Given the description of an element on the screen output the (x, y) to click on. 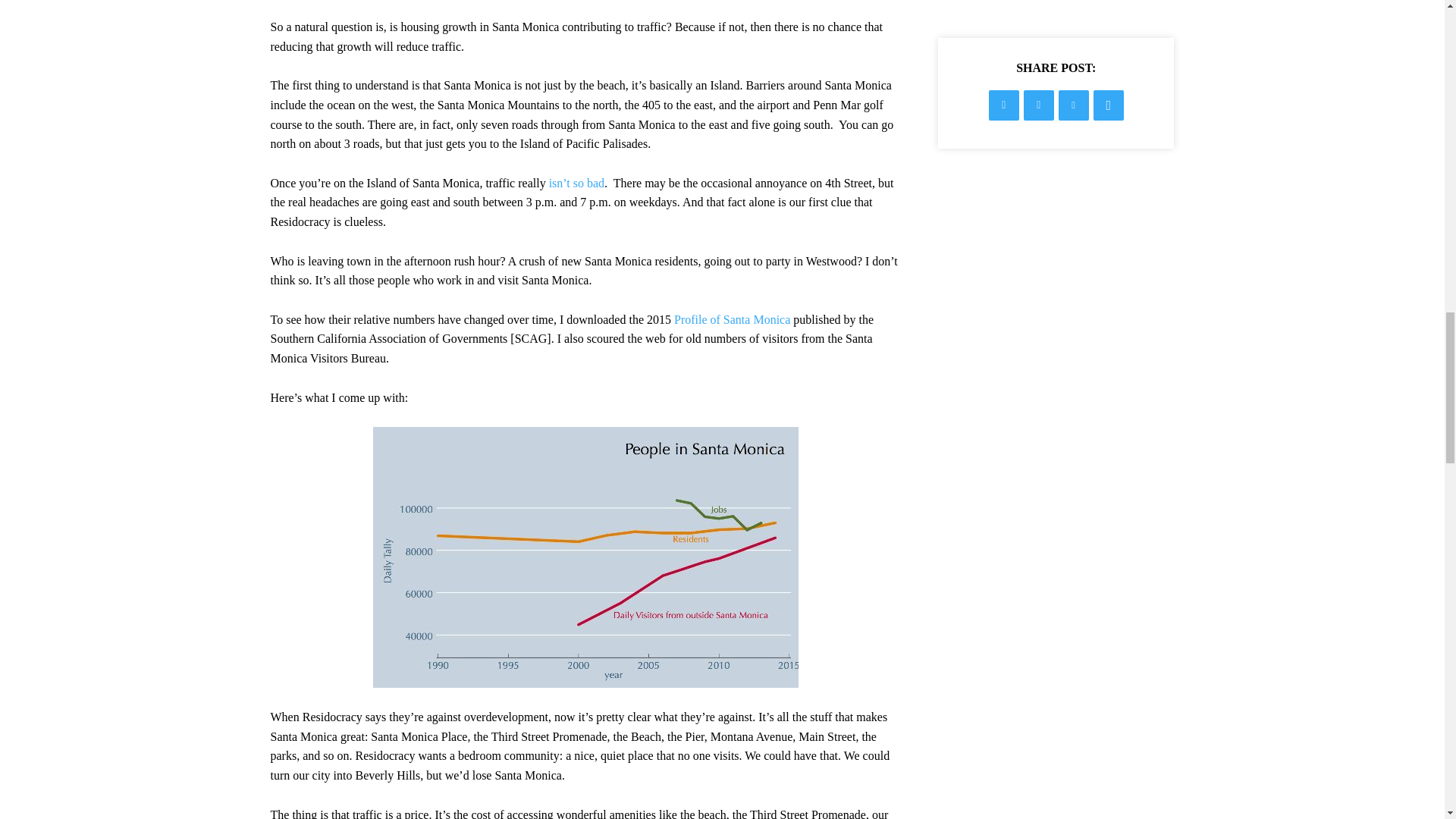
Pinterest (1073, 105)
Twitter (1038, 105)
WhatsApp (1108, 105)
Facebook (1003, 105)
